Given the description of an element on the screen output the (x, y) to click on. 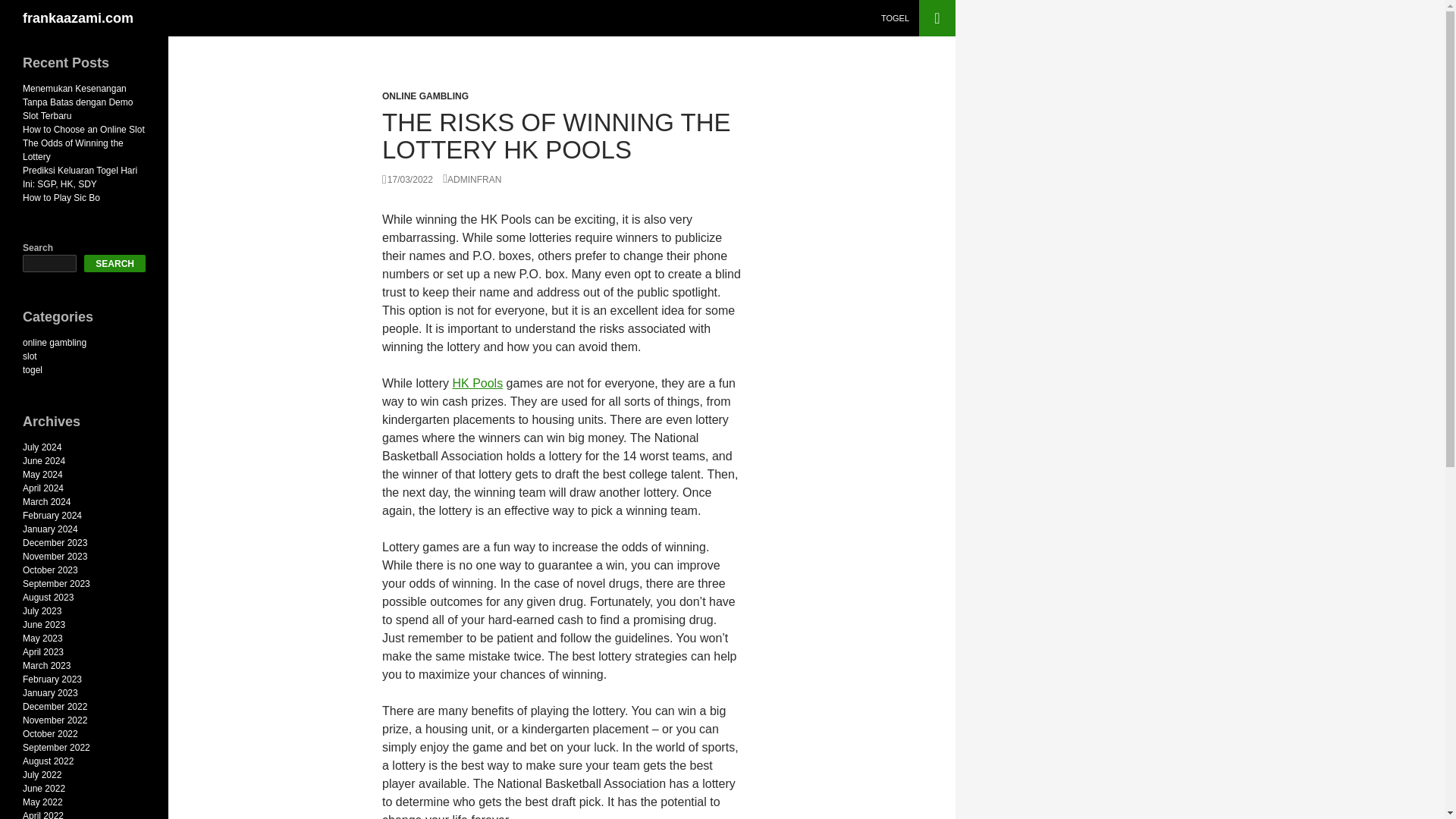
online gambling (54, 342)
May 2024 (42, 474)
December 2023 (55, 542)
November 2023 (55, 556)
January 2024 (50, 529)
June 2024 (44, 460)
April 2024 (43, 488)
TOGEL (895, 18)
HK Pools (476, 382)
How to Choose an Online Slot (83, 129)
slot (30, 356)
July 2024 (42, 447)
togel (32, 369)
frankaazami.com (78, 18)
October 2023 (50, 570)
